Given the description of an element on the screen output the (x, y) to click on. 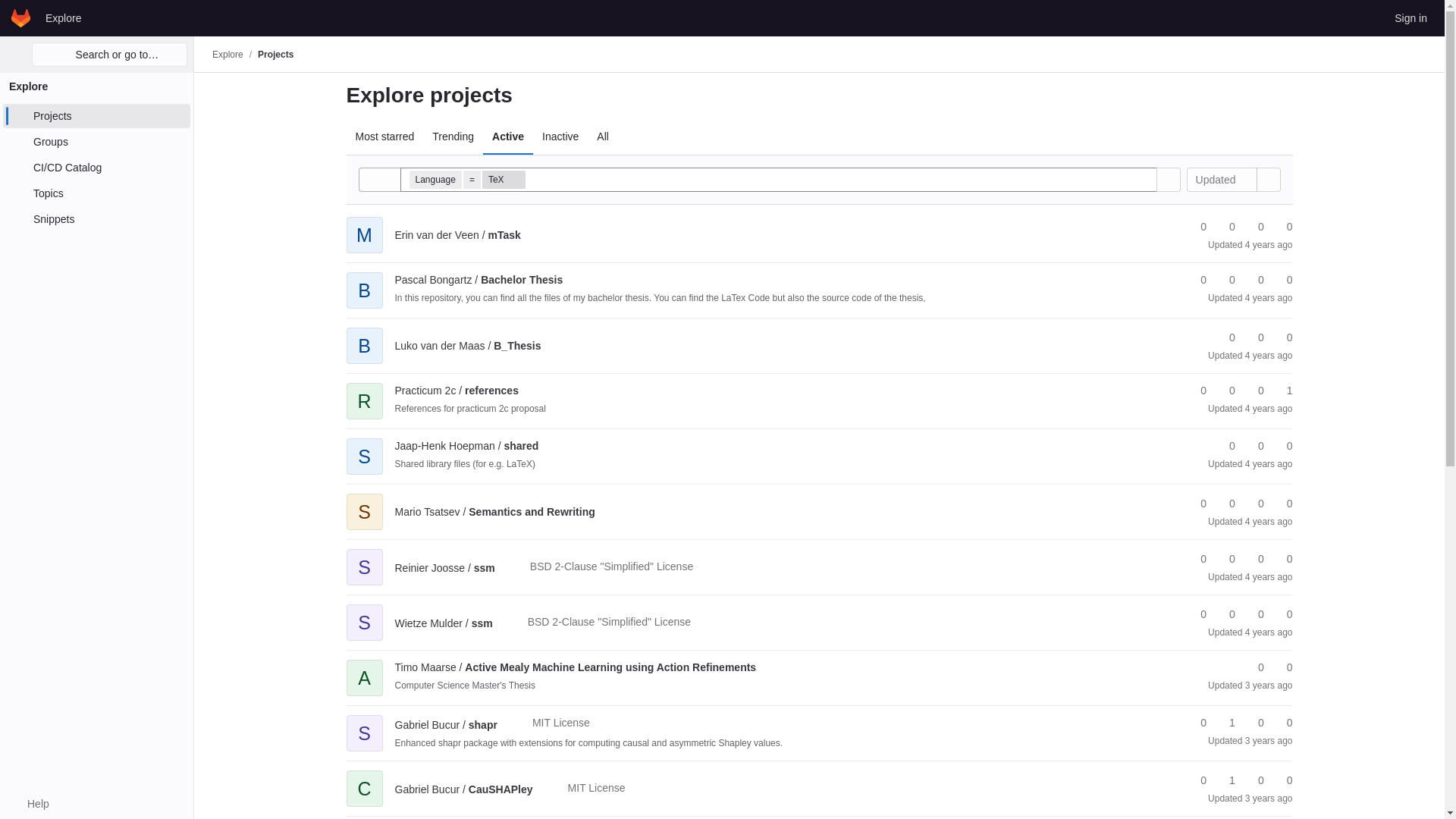
Projects (96, 115)
Sort direction: Ascending (1267, 179)
Sign in (1410, 17)
Most starred (384, 135)
Projects (275, 54)
Issues (1282, 227)
Groups (96, 141)
M (363, 224)
Active (507, 135)
Bachelor Thesis (478, 279)
